Given the description of an element on the screen output the (x, y) to click on. 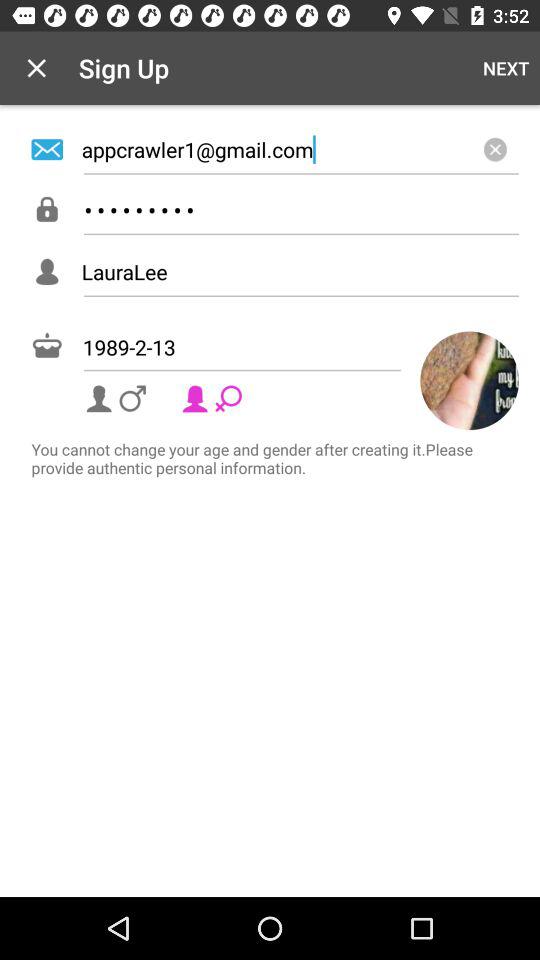
select the lauralee item (300, 271)
